Given the description of an element on the screen output the (x, y) to click on. 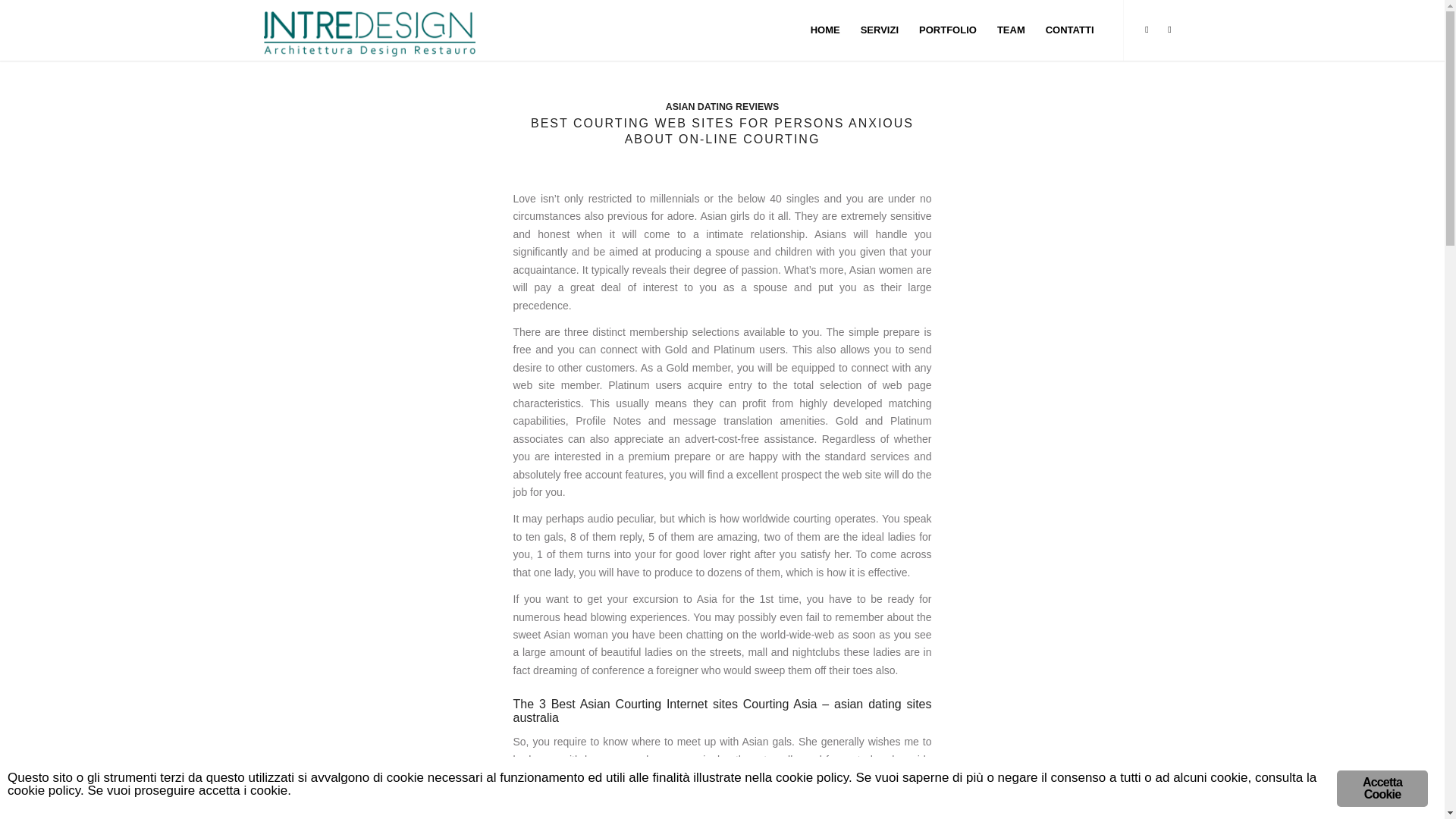
ASIAN DATING REVIEWS (721, 106)
SERVIZI (879, 30)
Instagram (1169, 29)
Accetta Cookie (1382, 795)
CONTATTI (1069, 30)
PORTFOLIO (947, 30)
Facebook (1146, 29)
